Given the description of an element on the screen output the (x, y) to click on. 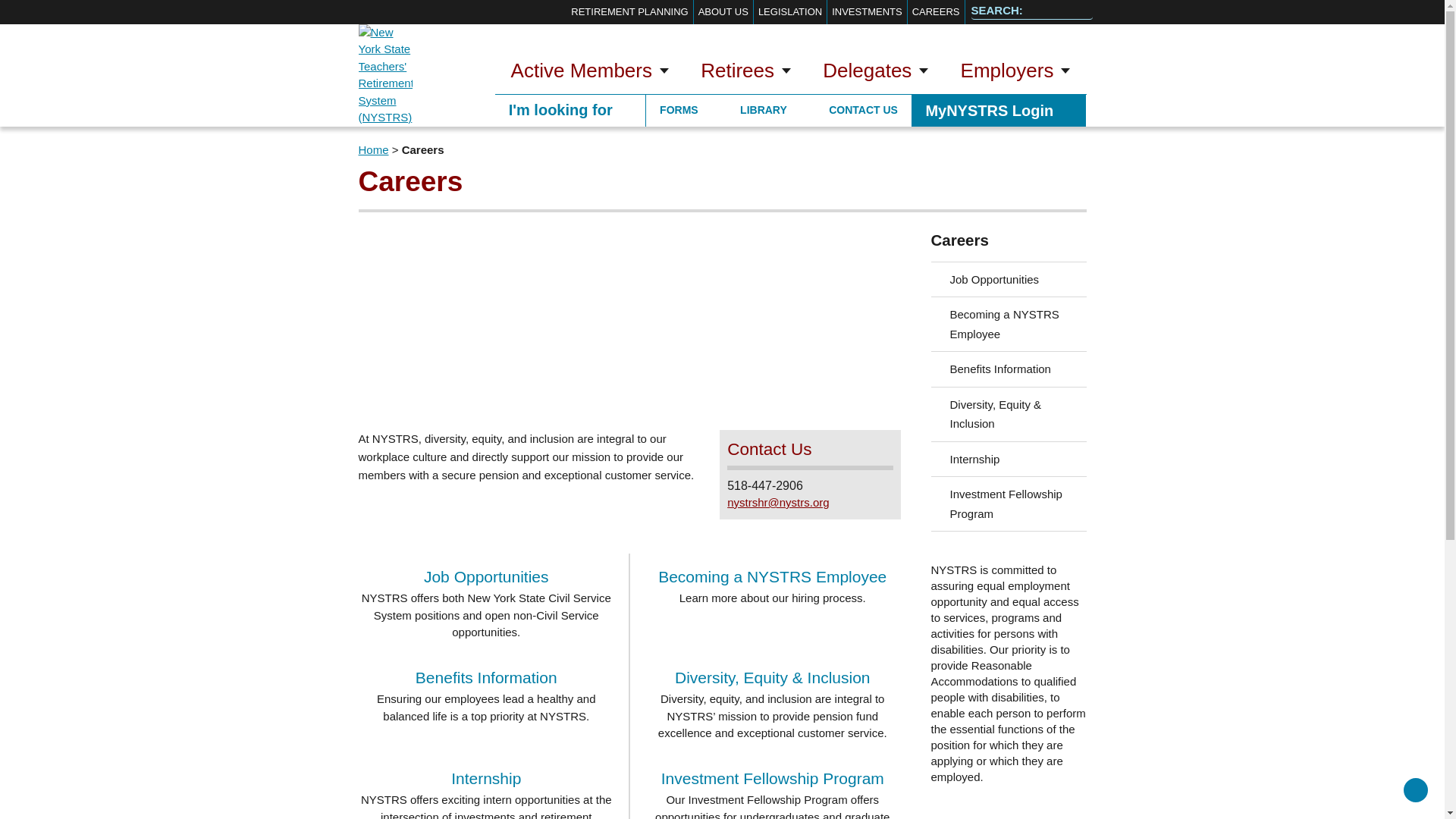
RETIREMENT PLANNING (629, 12)
CAREERS (935, 12)
Retirees (745, 73)
Login (998, 110)
Submit search (1076, 12)
INVESTMENTS (866, 12)
LEGISLATION (790, 12)
Active Members (589, 73)
ABOUT US (723, 12)
Delegates (874, 73)
